Given the description of an element on the screen output the (x, y) to click on. 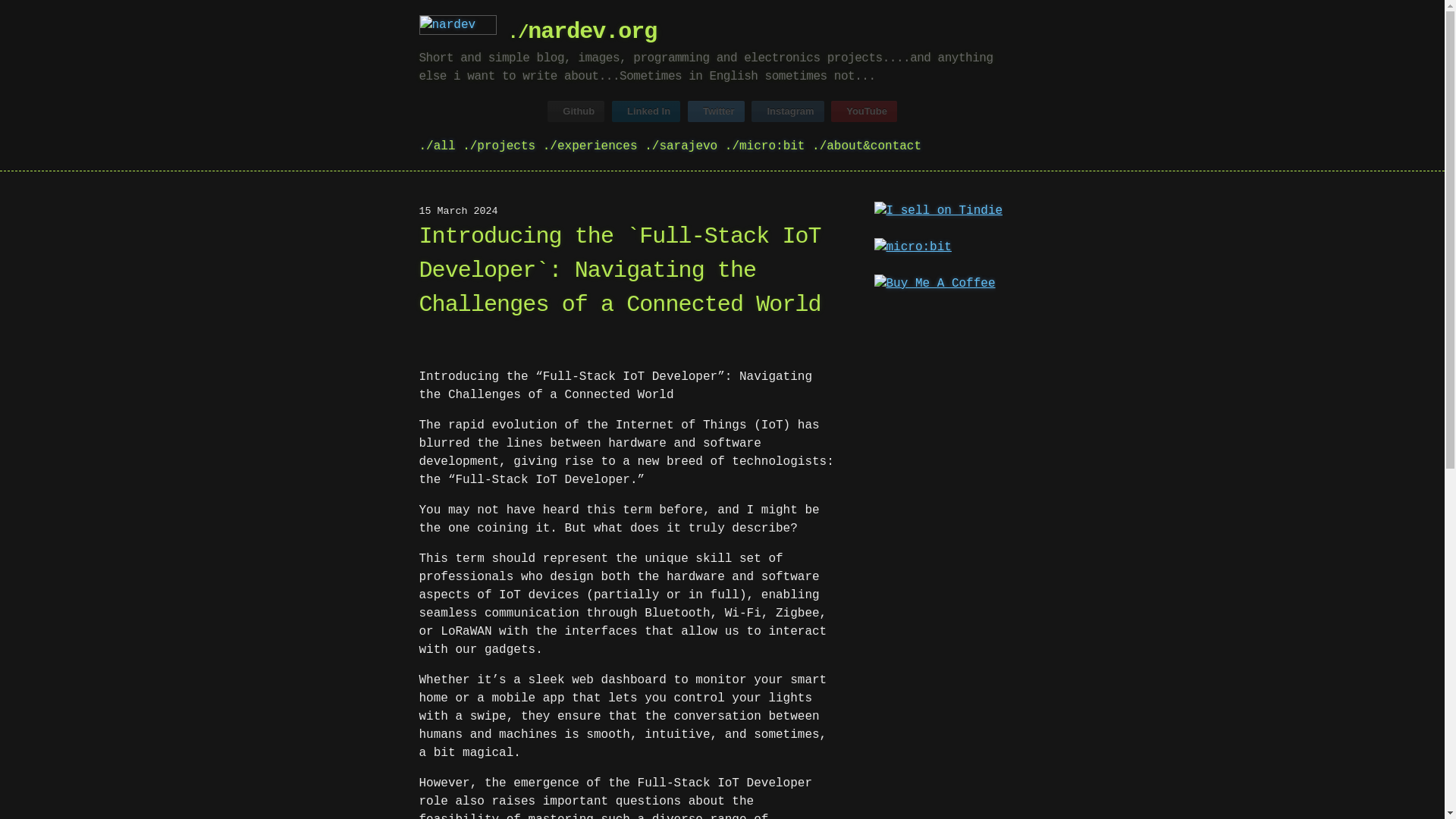
projects (499, 146)
micro:bit (765, 146)
  Github (575, 111)
  Instagram (787, 111)
sarajevo (681, 146)
  Twitter (715, 111)
  YouTube (863, 111)
all (436, 146)
experiences (590, 146)
  Linked In (645, 111)
